Given the description of an element on the screen output the (x, y) to click on. 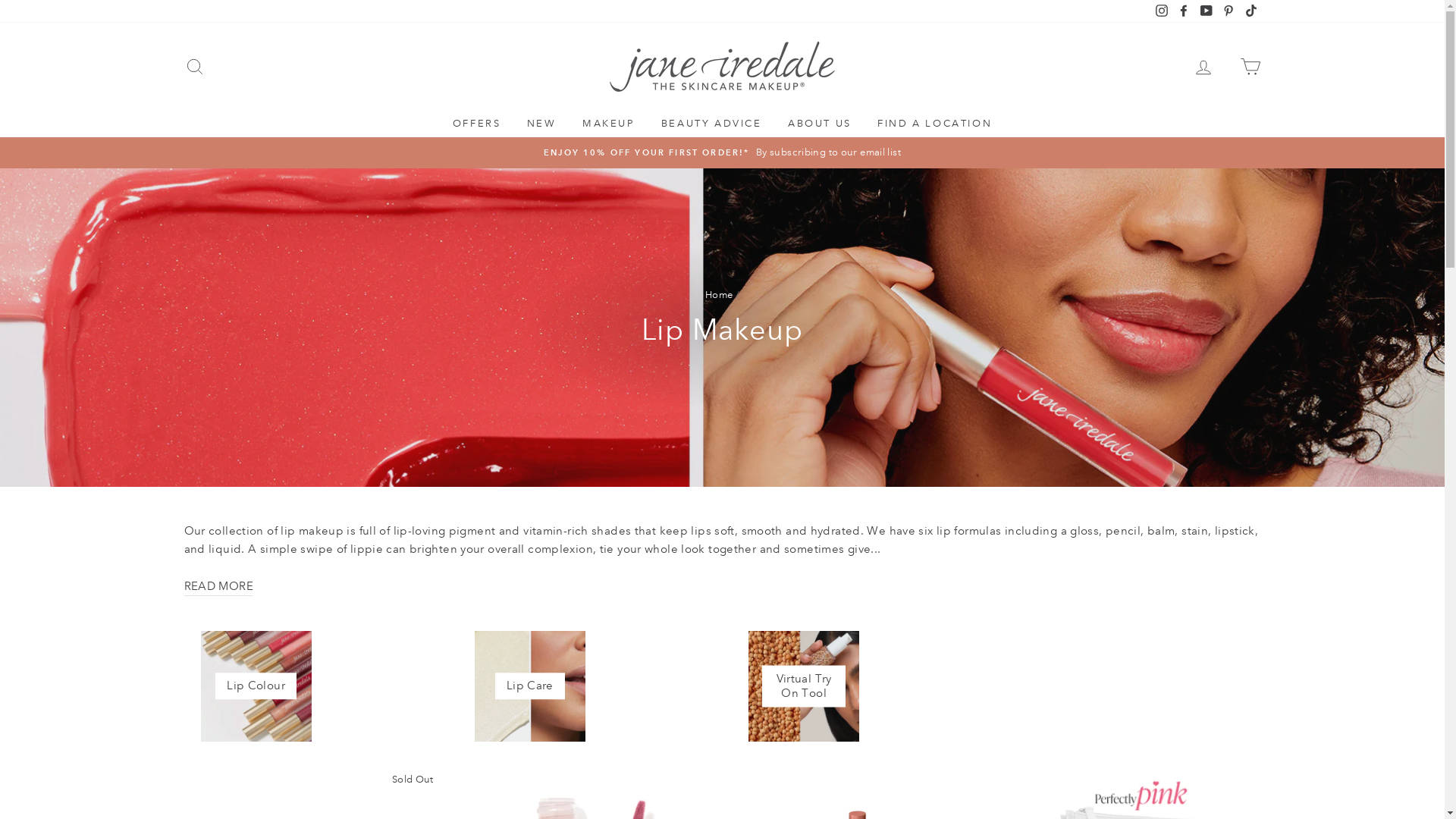
READ MORE Element type: text (217, 586)
MAKEUP Element type: text (608, 123)
Pinterest Element type: text (1228, 11)
LOG IN Element type: text (1203, 66)
BEAUTY ADVICE Element type: text (711, 123)
OFFERS Element type: text (476, 123)
SEARCH Element type: text (193, 66)
CART Element type: text (1249, 66)
Virtual Try On Tool Element type: text (803, 685)
Skip to content Element type: text (0, 0)
NEW Element type: text (541, 123)
Facebook Element type: text (1183, 11)
Instagram Element type: text (1161, 11)
FIND A LOCATION Element type: text (934, 123)
YouTube Element type: text (1206, 11)
Lip Colour Element type: text (255, 685)
ABOUT US Element type: text (819, 123)
TikTok Element type: text (1250, 11)
Home Element type: text (719, 294)
Lip Care Element type: text (529, 685)
